Given the description of an element on the screen output the (x, y) to click on. 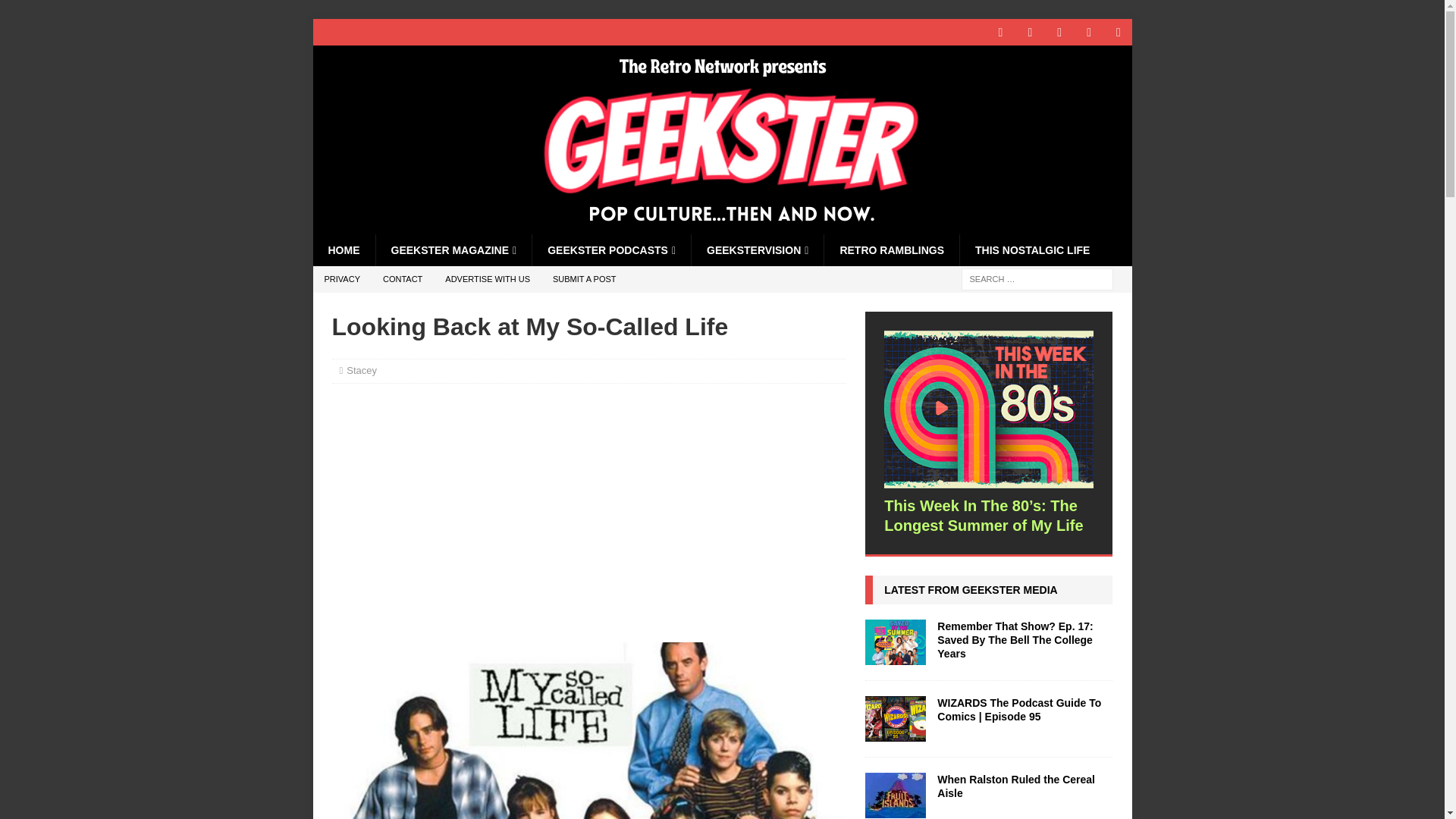
The Retro Network (722, 225)
Advertisement (588, 510)
